Given the description of an element on the screen output the (x, y) to click on. 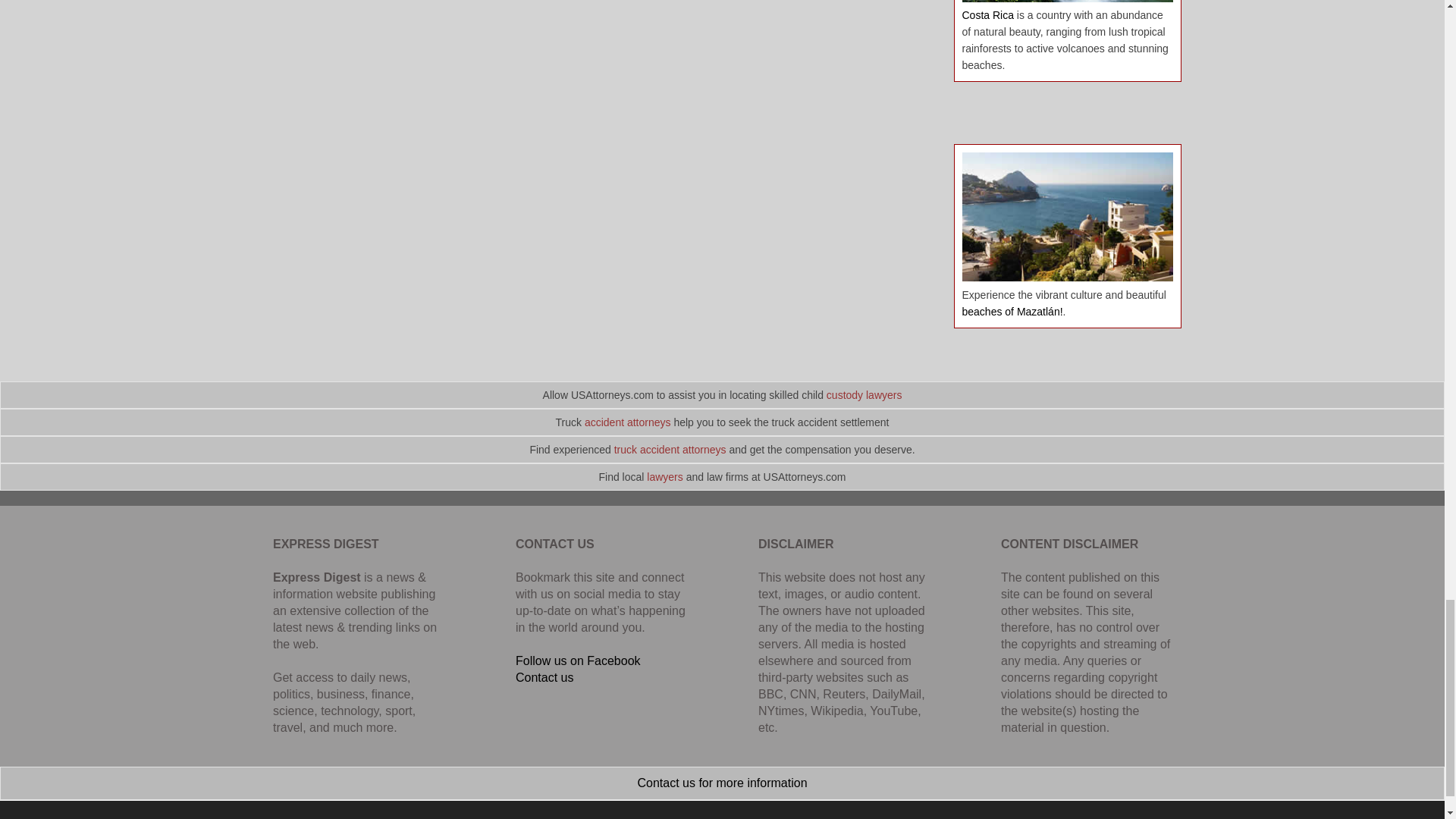
truck accident attorneys (670, 449)
custody lawyers (864, 395)
Costa Rica (986, 15)
accident attorneys (628, 422)
lawyers (664, 476)
